Given the description of an element on the screen output the (x, y) to click on. 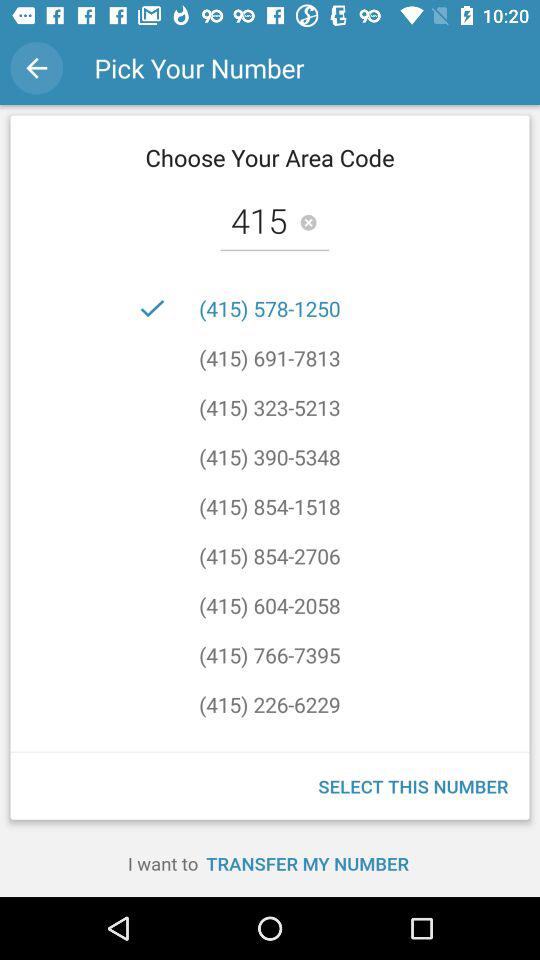
turn on the item above (415) 347-9106 item (269, 704)
